Given the description of an element on the screen output the (x, y) to click on. 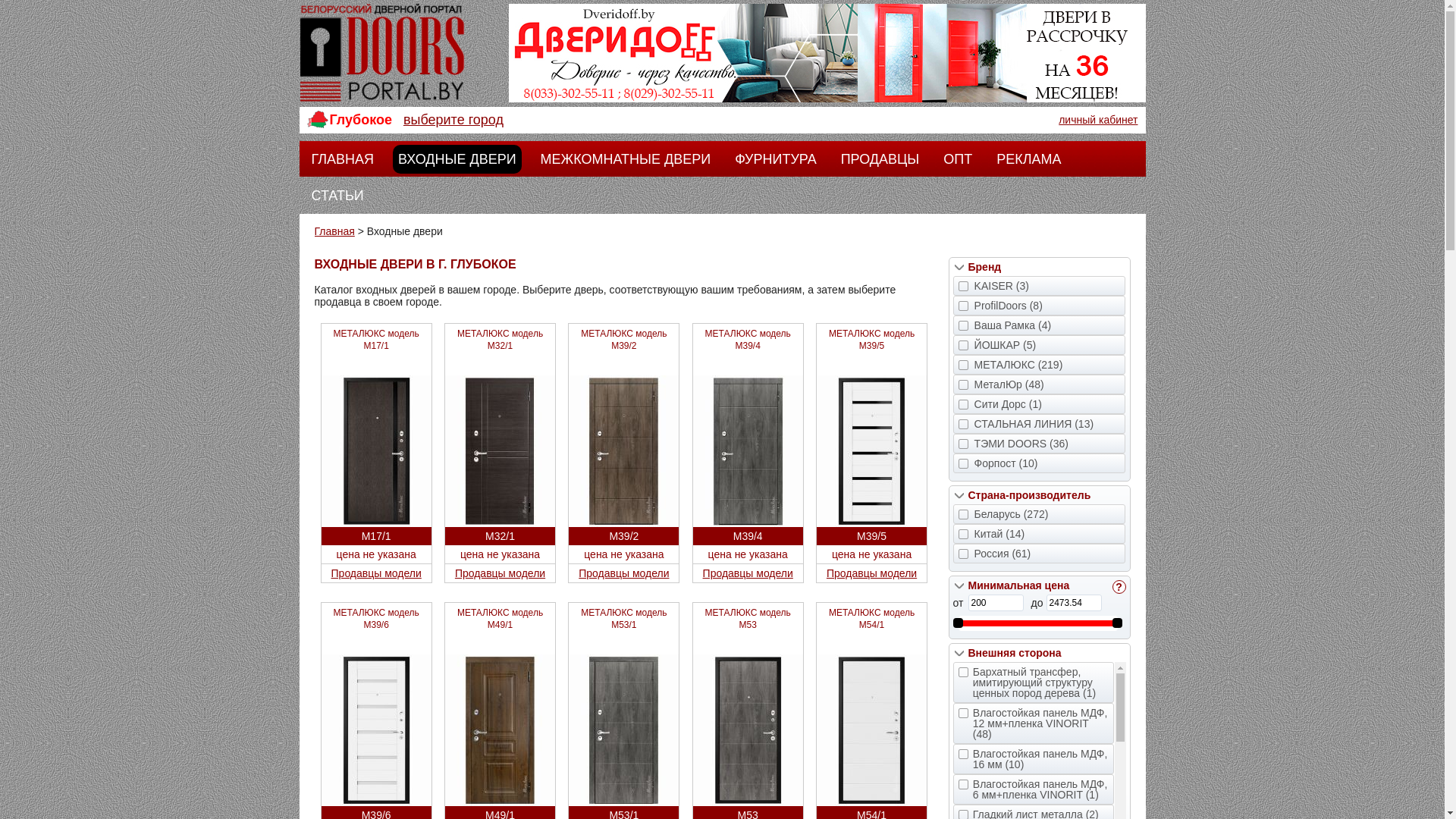
? Element type: text (1118, 586)
KAISER (3) Element type: text (1039, 285)
ProfilDoors (8) Element type: text (1039, 305)
